Given the description of an element on the screen output the (x, y) to click on. 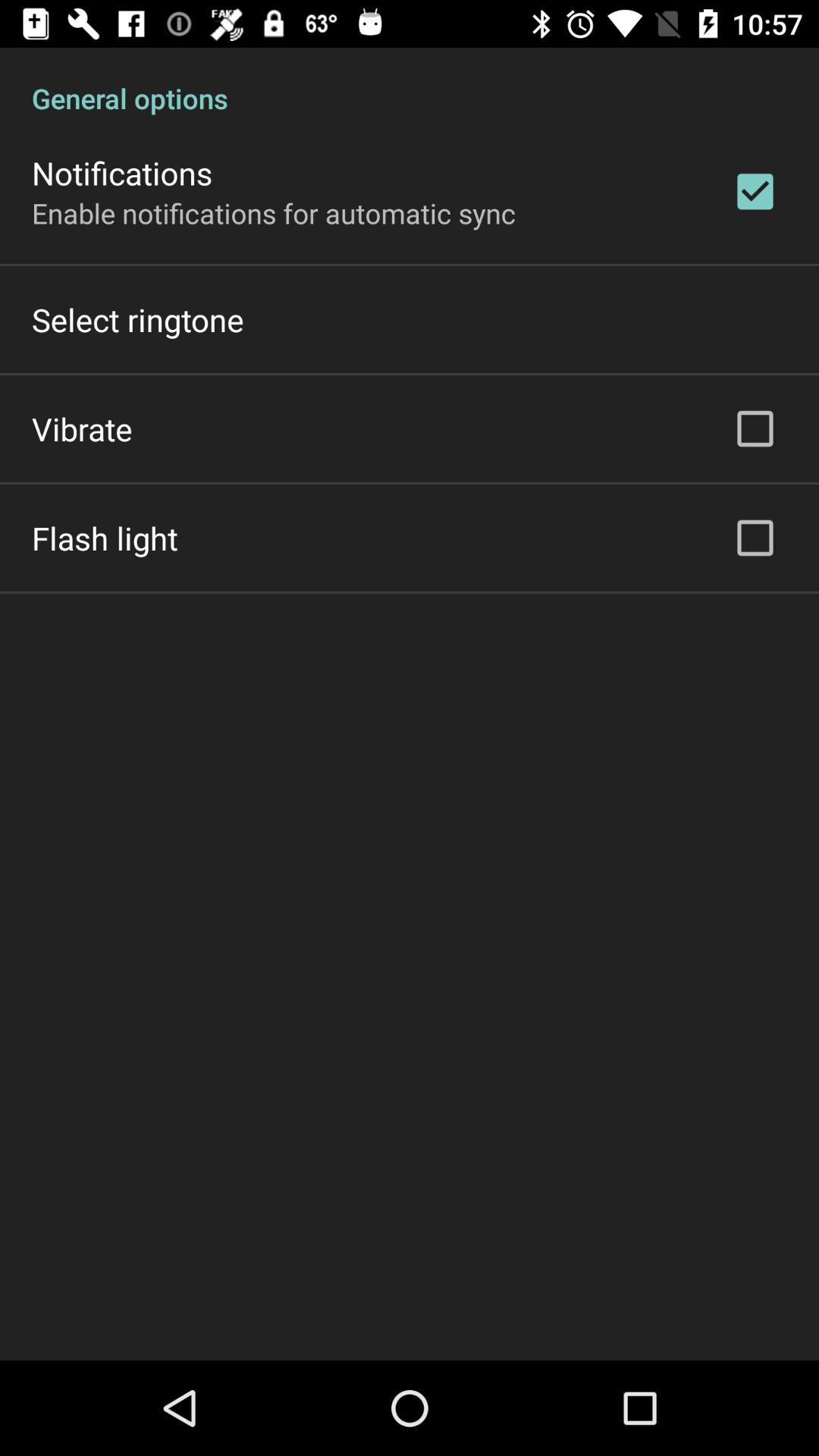
launch the item above the vibrate icon (137, 319)
